Given the description of an element on the screen output the (x, y) to click on. 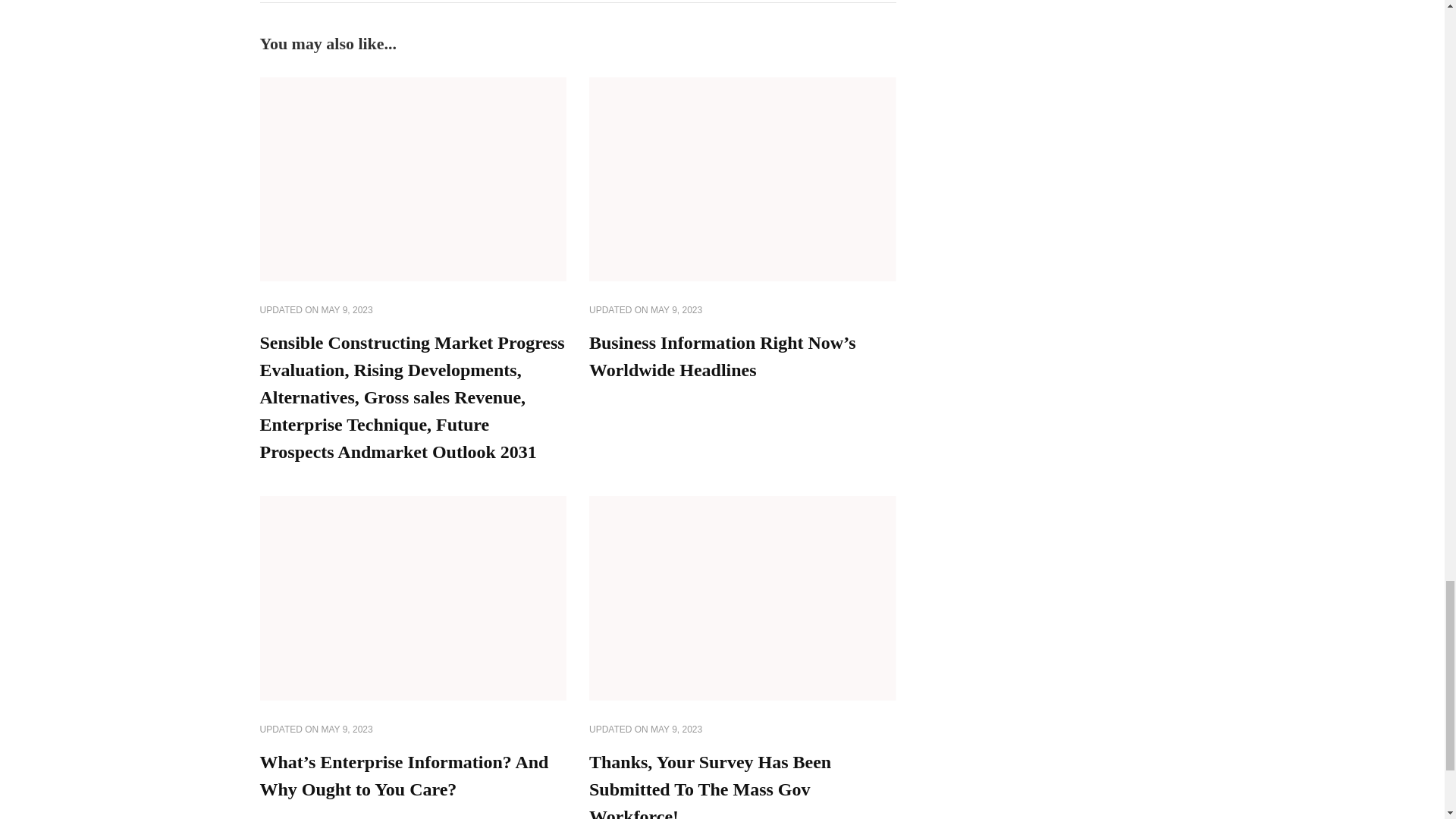
MAY 9, 2023 (346, 730)
MAY 9, 2023 (346, 310)
MAY 9, 2023 (675, 310)
MAY 9, 2023 (675, 730)
